Given the description of an element on the screen output the (x, y) to click on. 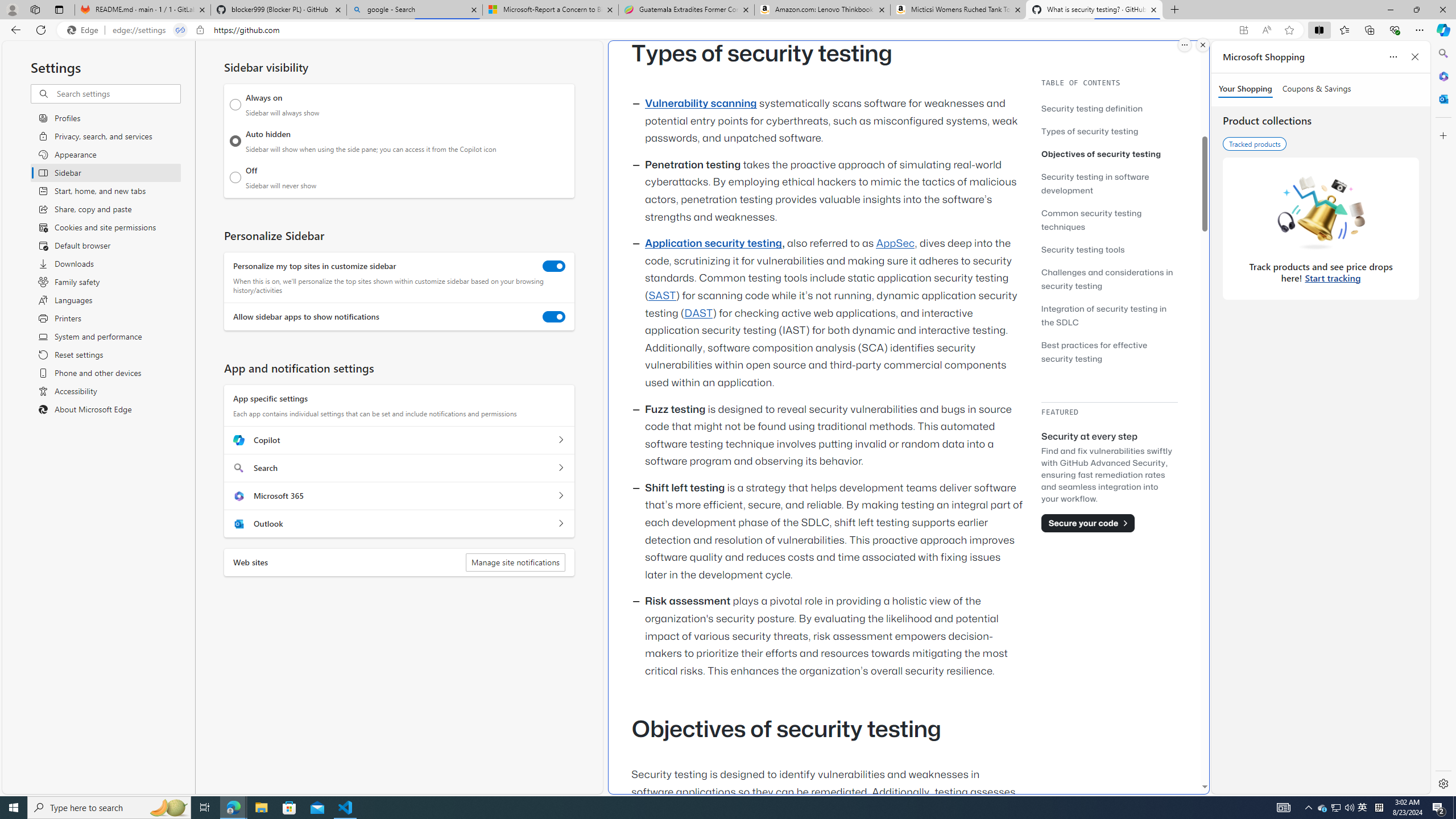
Close split screen. (1202, 45)
Challenges and considerations in security testing (1107, 278)
Security testing definition (1091, 108)
More options. (1183, 45)
Best practices for effective security testing (1109, 351)
Security testing tools (1109, 249)
Security testing tools (1083, 248)
Application security testing (713, 243)
Types of security testing (1089, 130)
